Given the description of an element on the screen output the (x, y) to click on. 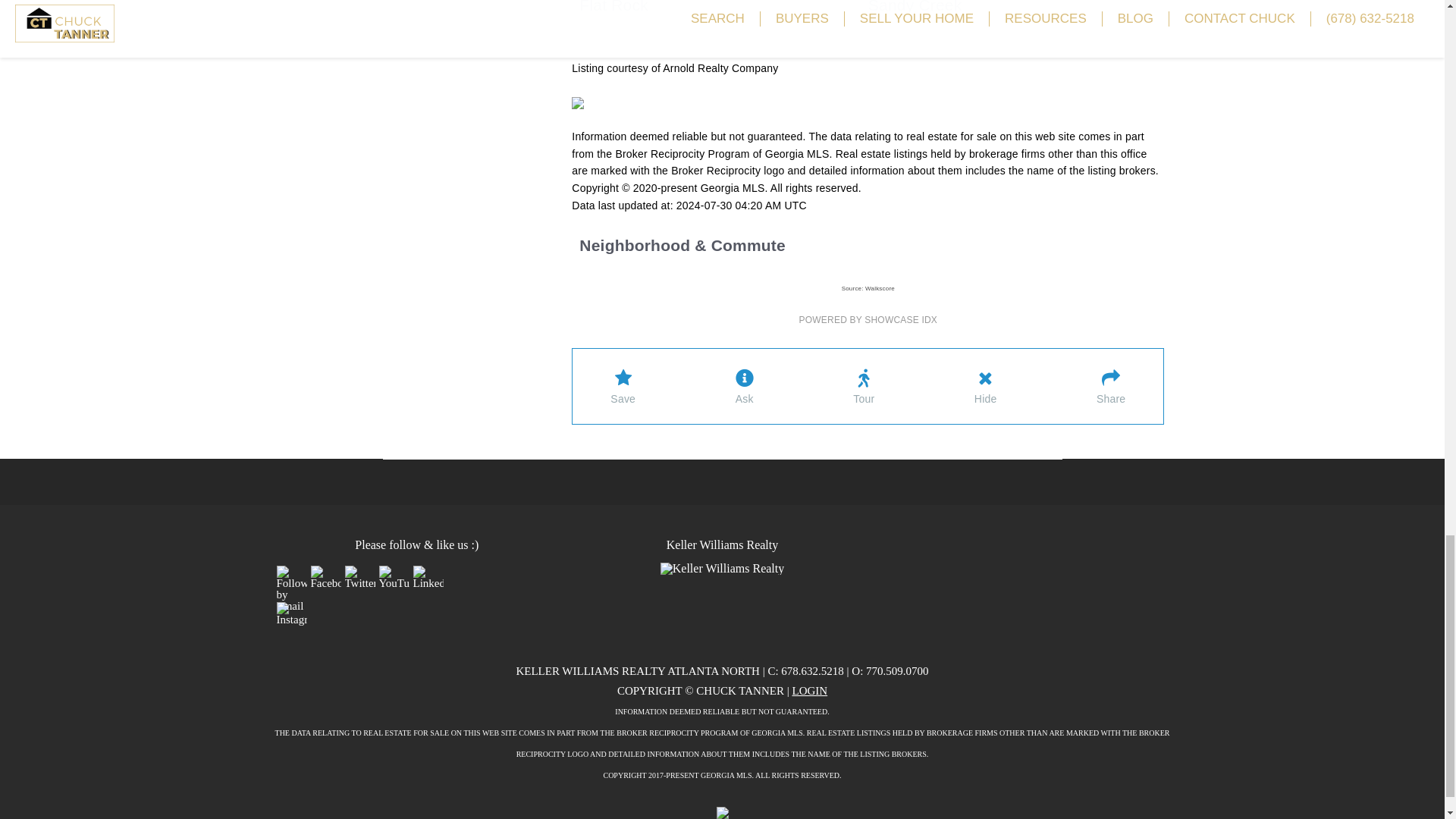
Instagram (290, 613)
YouTube (393, 576)
POWERED BY SHOWCASE IDX (868, 319)
LinkedIn (427, 576)
Facebook (325, 576)
Twitter (358, 576)
